Given the description of an element on the screen output the (x, y) to click on. 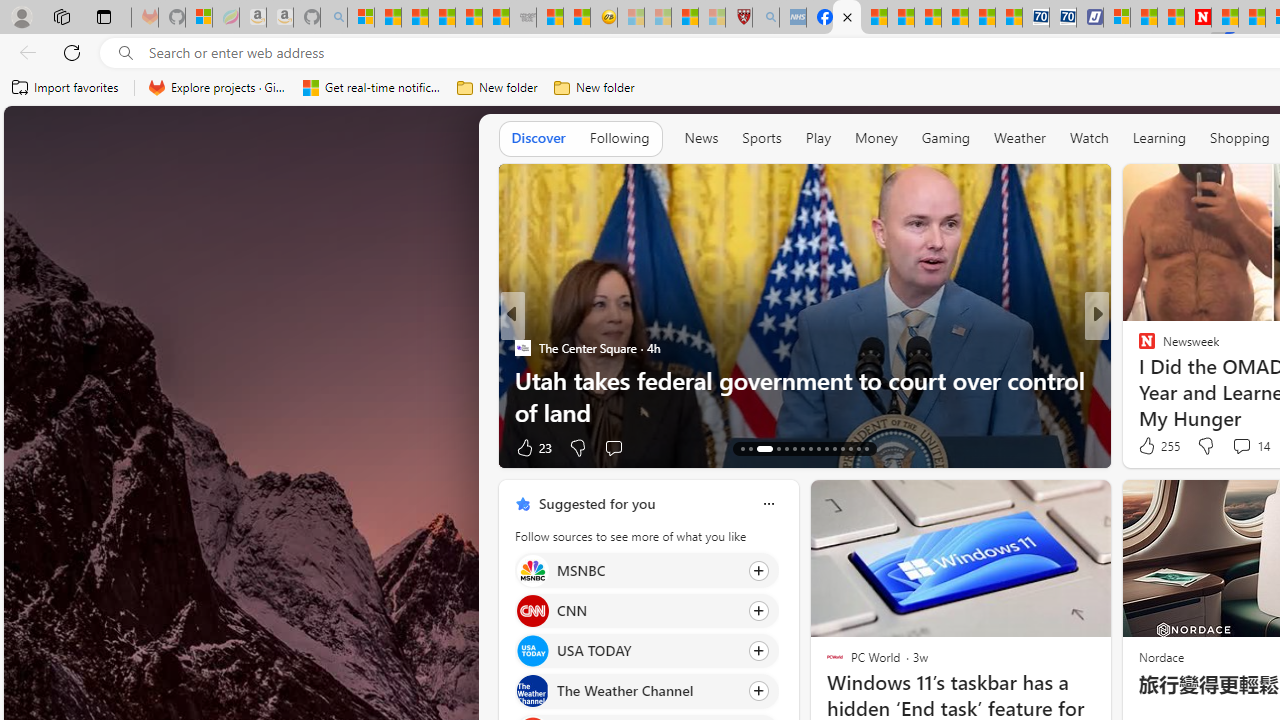
AutomationID: tab-73 (810, 448)
Body Network (1138, 347)
XDA Developers (1138, 347)
AutomationID: tab-78 (850, 448)
View comments 14 Comment (1241, 445)
Search icon (125, 53)
View comments 228 Comment (1228, 447)
